Given the description of an element on the screen output the (x, y) to click on. 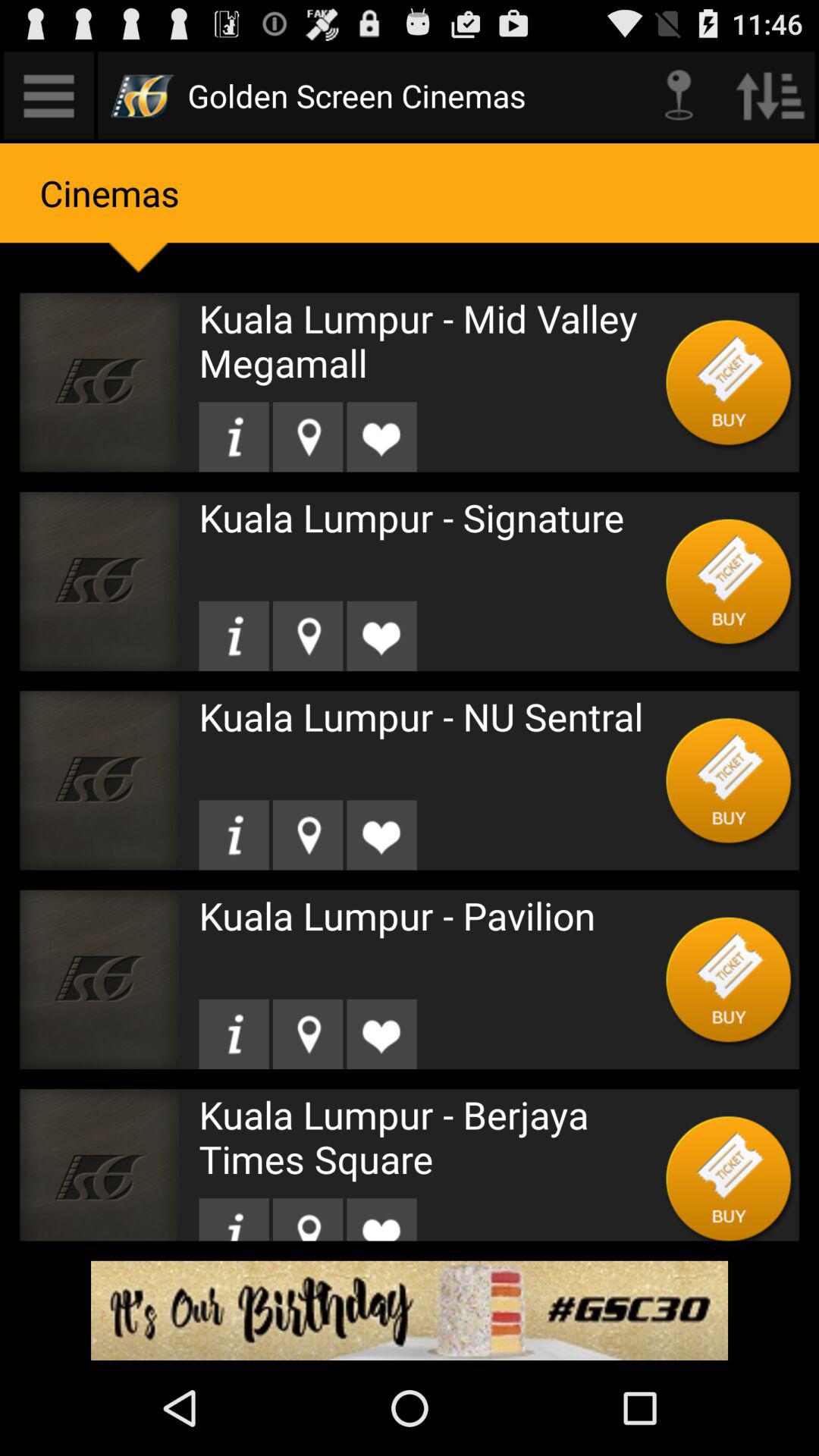
see information (234, 1219)
